Given the description of an element on the screen output the (x, y) to click on. 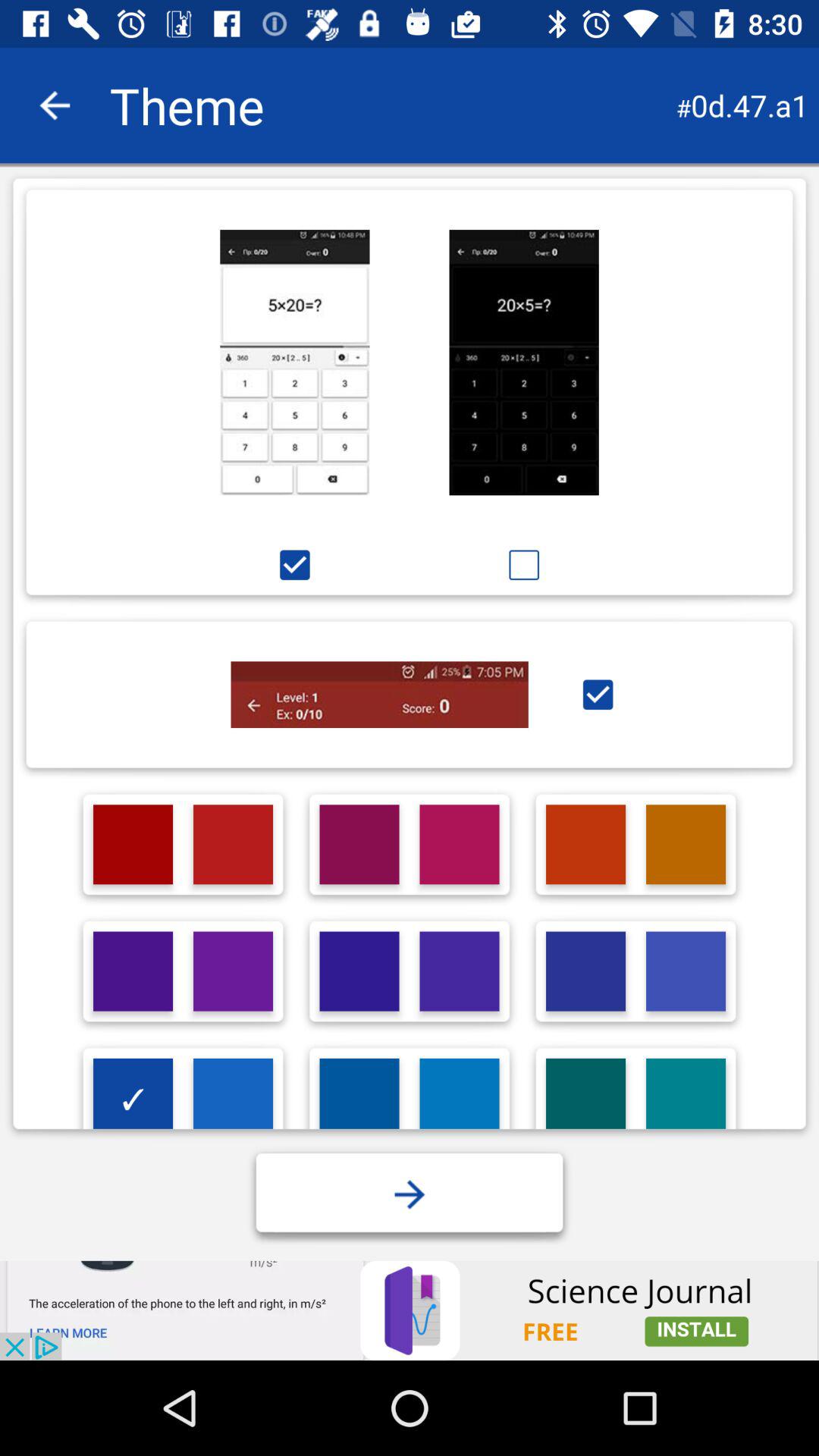
logo (359, 1098)
